Given the description of an element on the screen output the (x, y) to click on. 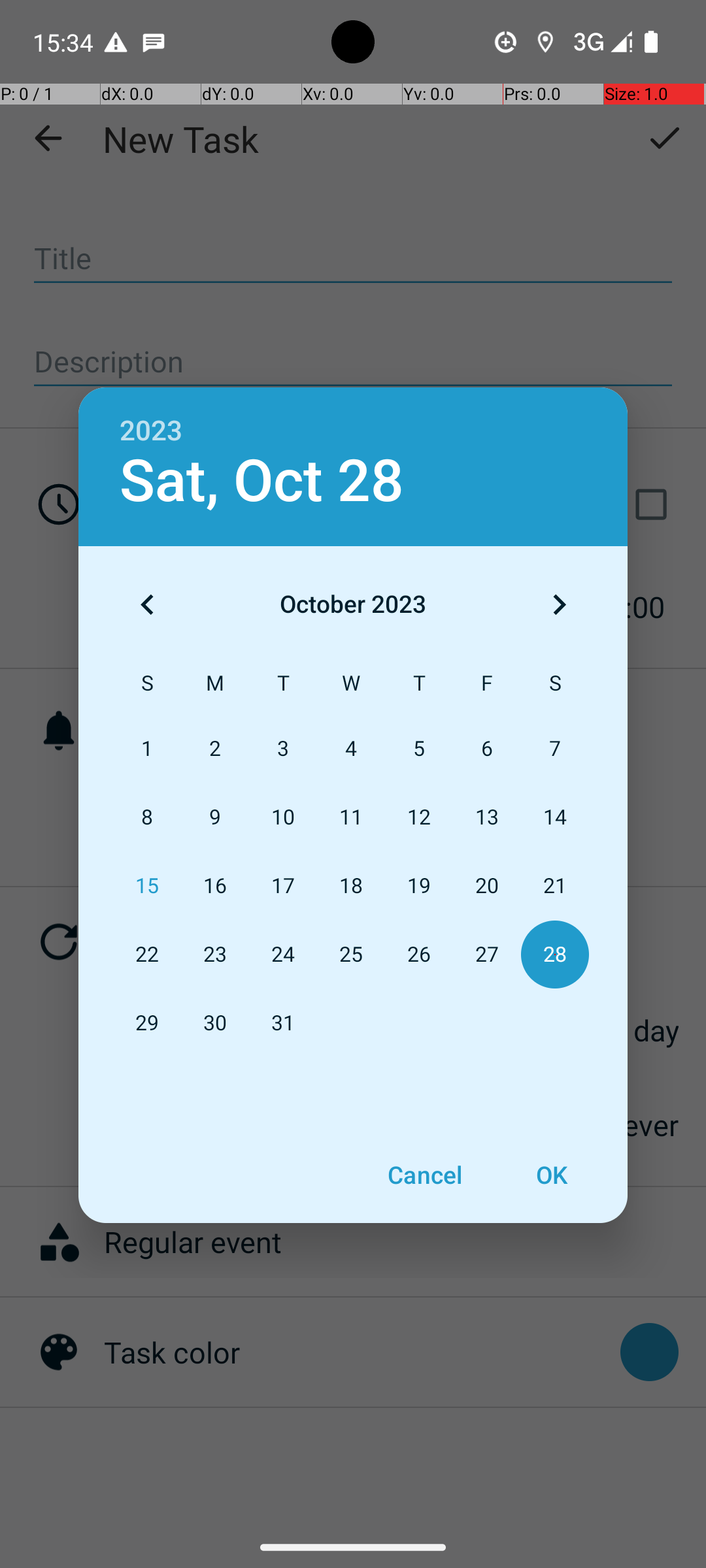
Sat, Oct 28 Element type: android.widget.TextView (261, 480)
